Given the description of an element on the screen output the (x, y) to click on. 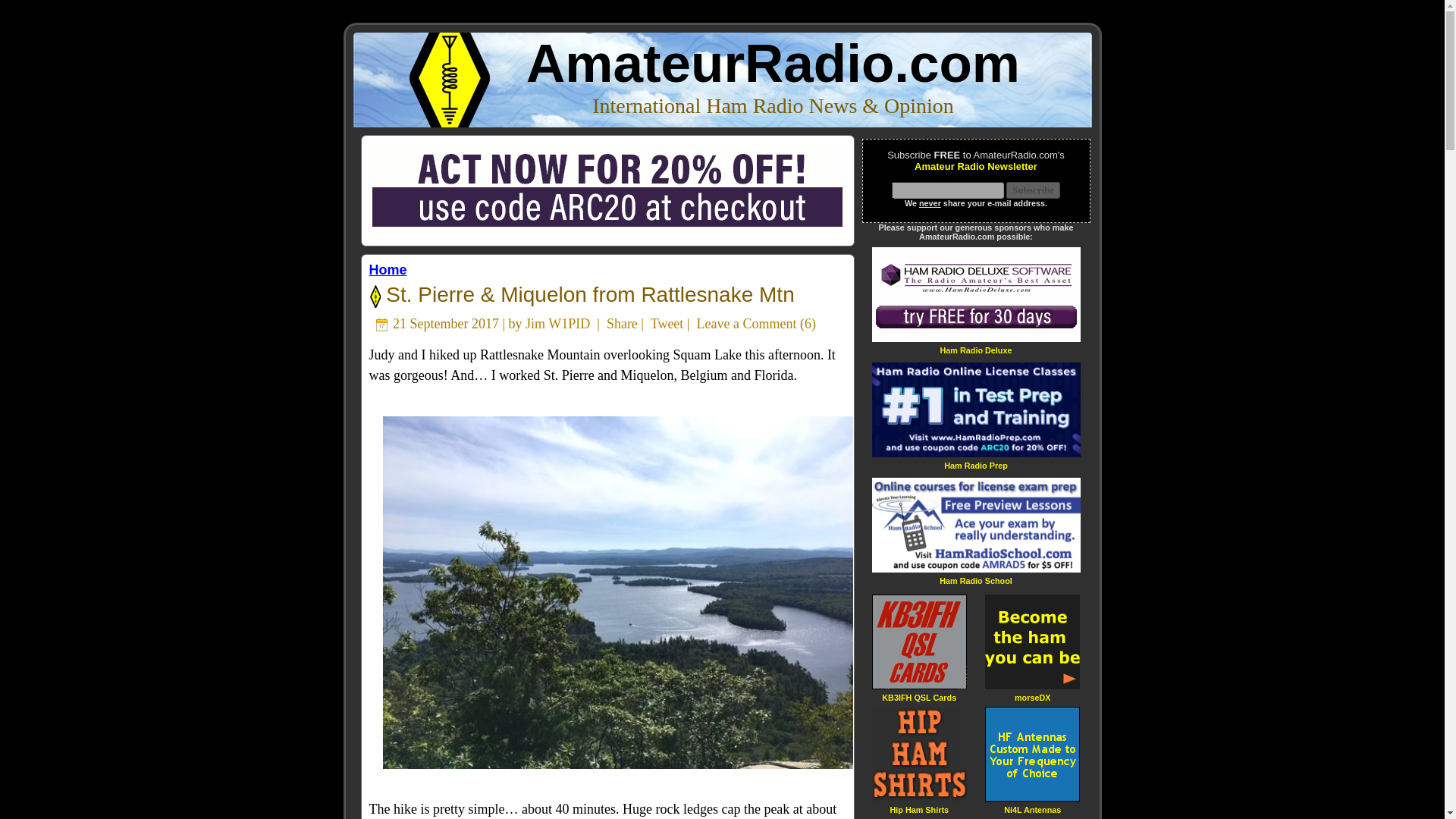
Ham Radio Prep (975, 464)
Leave a Comment (745, 323)
Jim W1PID (557, 323)
Share (622, 323)
Subscribe (1032, 190)
Subscribe (1032, 190)
Tweet (667, 323)
Ham Radio School (975, 580)
Ham Radio Deluxe (975, 349)
Home (387, 269)
